Given the description of an element on the screen output the (x, y) to click on. 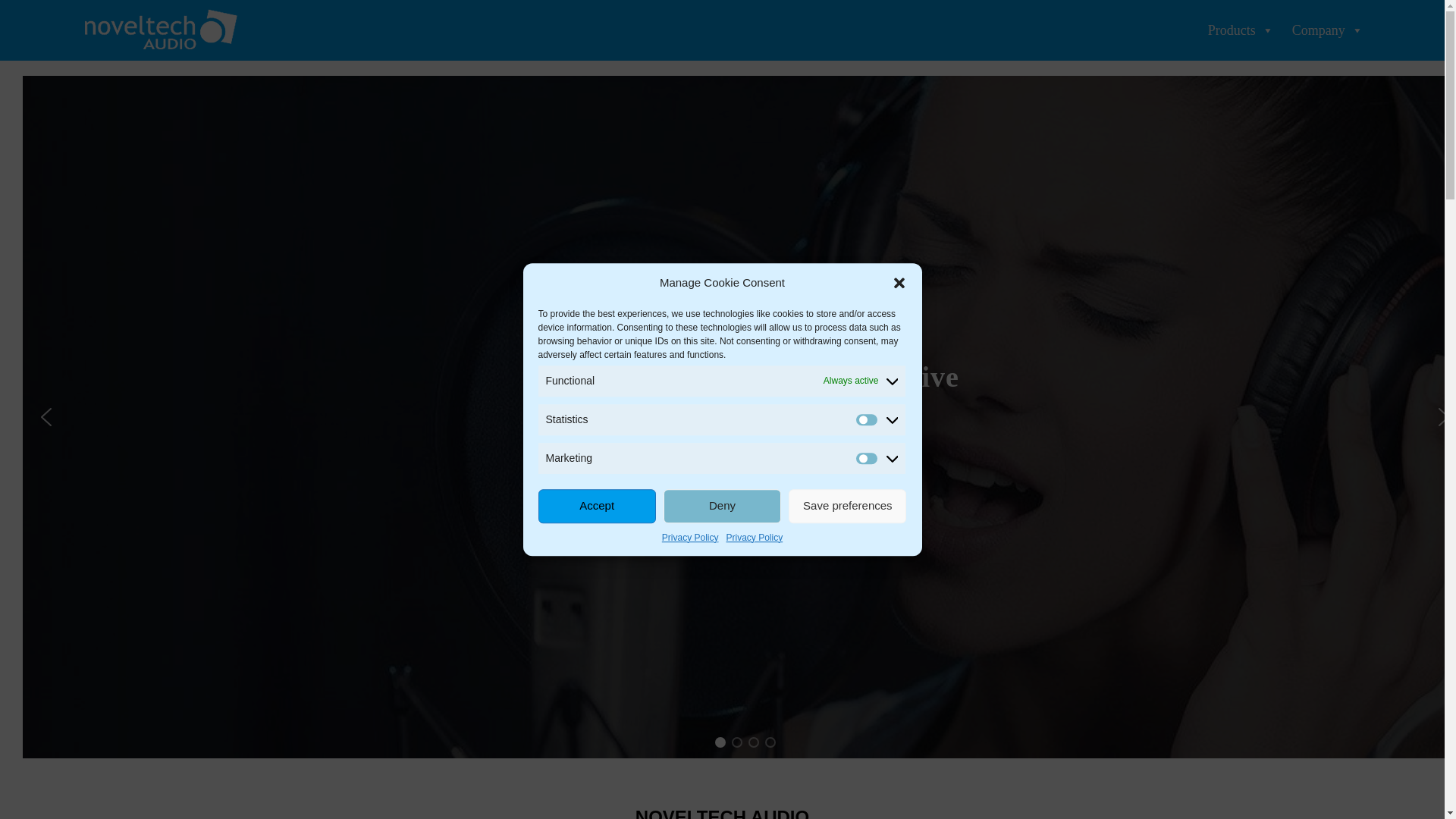
Accept (597, 505)
Products (1240, 30)
Deny (721, 505)
Save preferences (847, 505)
READ MORE (744, 457)
Privacy Policy (690, 537)
Company (1327, 30)
Privacy Policy (754, 537)
